Given the description of an element on the screen output the (x, y) to click on. 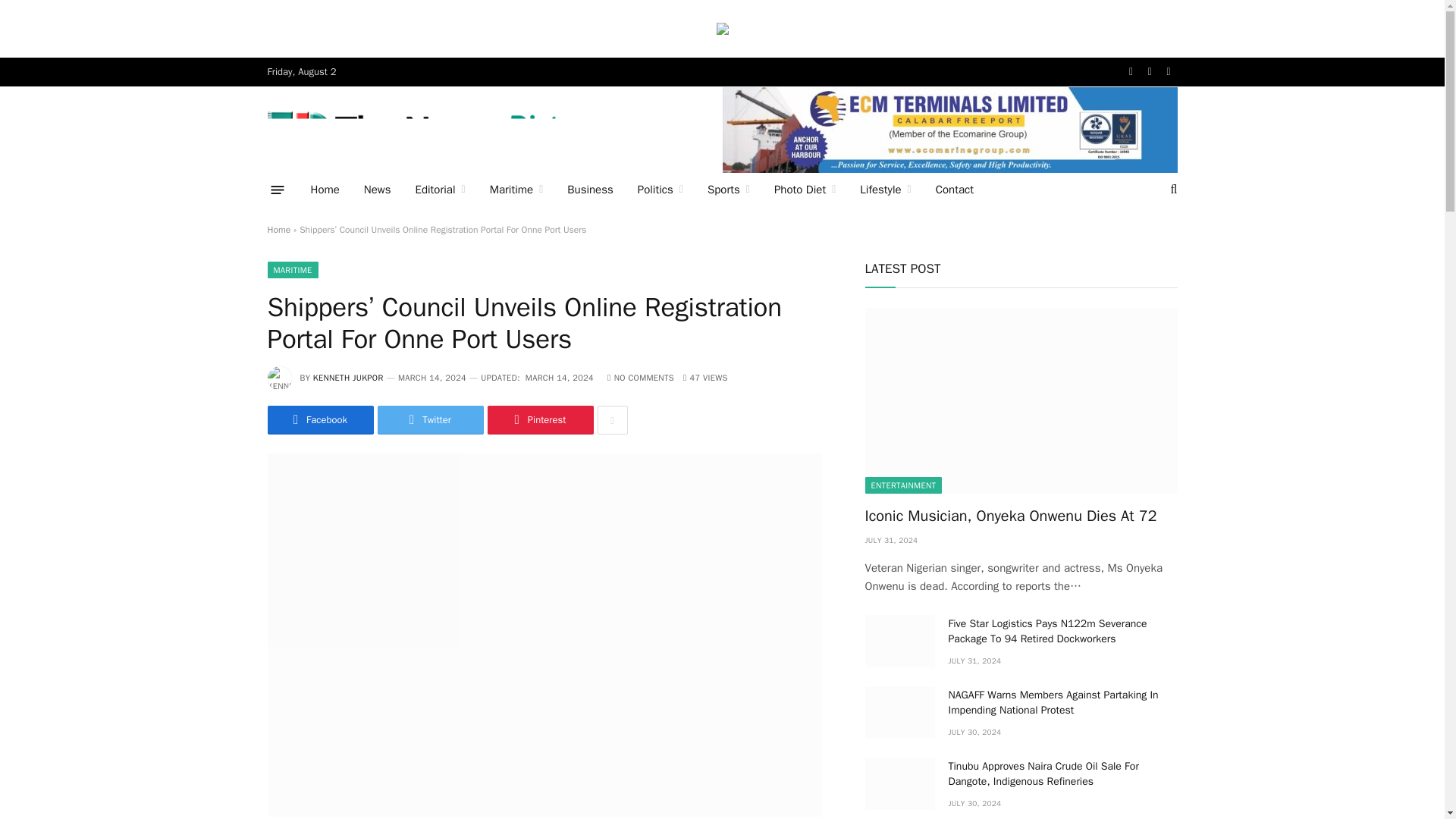
Business (590, 189)
News (377, 189)
Maritime (516, 189)
The News Diet (419, 131)
Editorial (440, 189)
Politics (660, 189)
Home (325, 189)
